Given the description of an element on the screen output the (x, y) to click on. 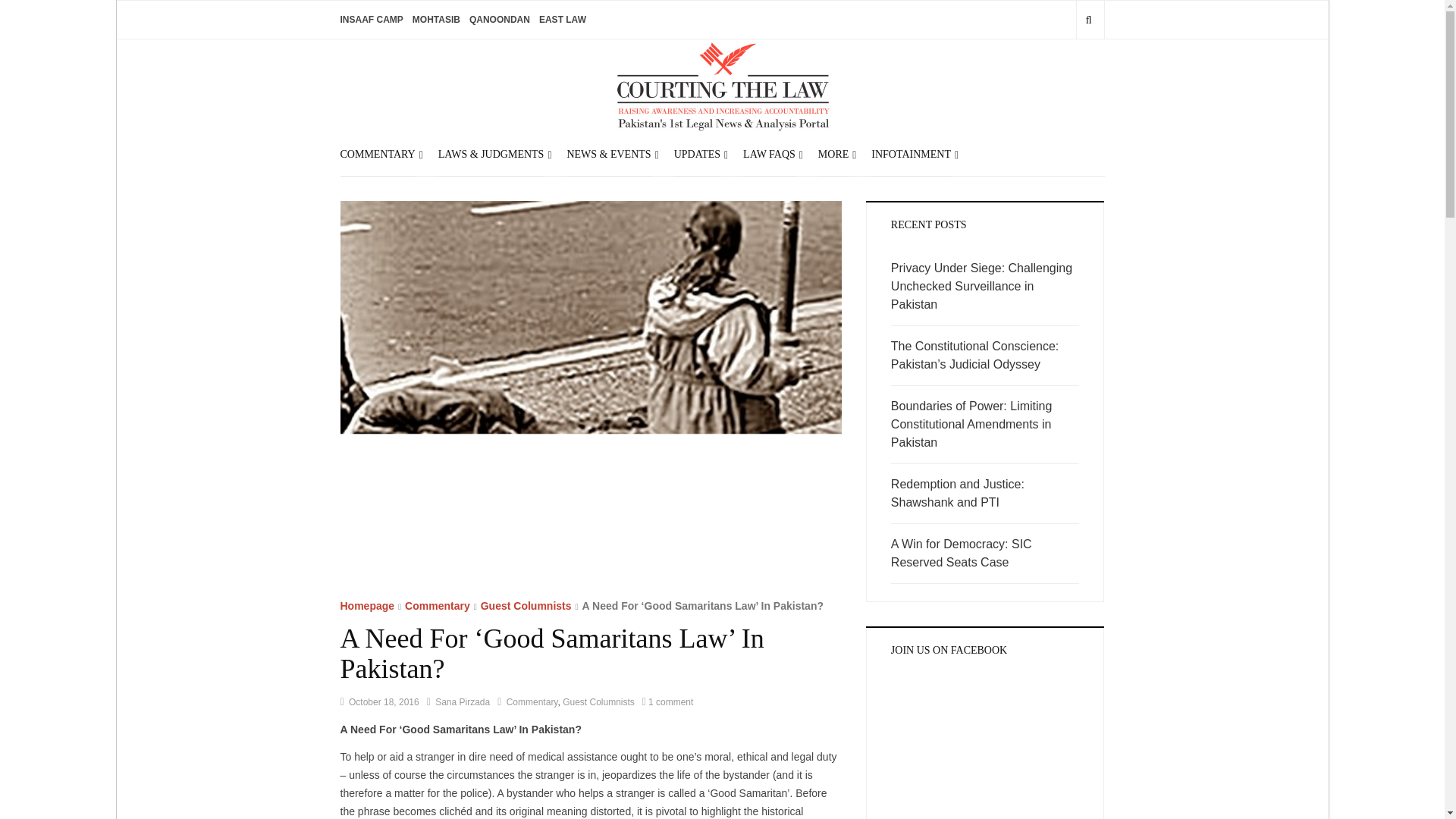
EAST LAW (562, 19)
INSAAF CAMP (371, 19)
UPDATES (697, 153)
MOHTASIB (436, 19)
COMMENTARY (376, 153)
QANOONDAN (498, 19)
Homepage (366, 605)
LAW FAQS (768, 153)
